Given the description of an element on the screen output the (x, y) to click on. 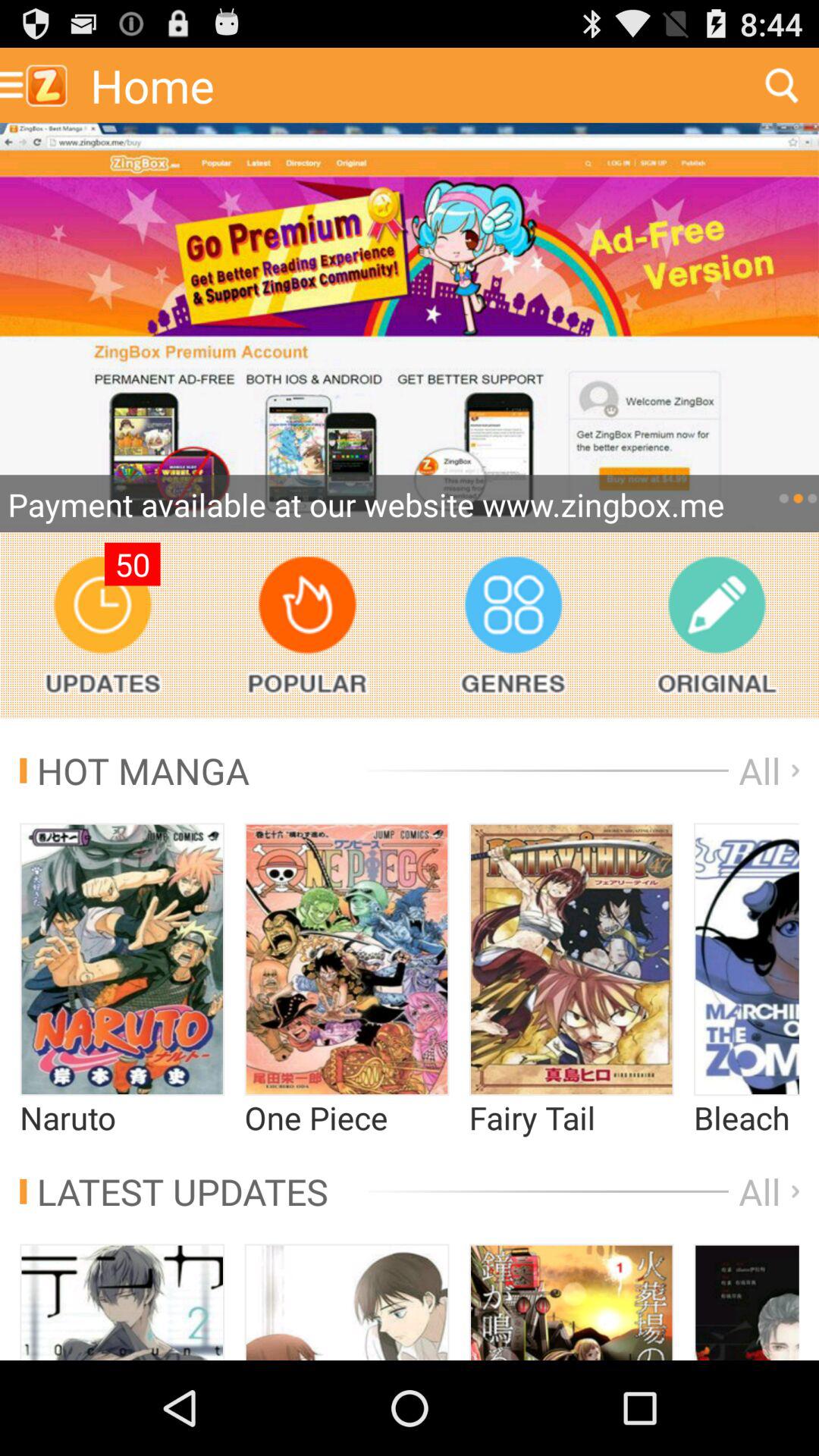
turn on the app above the all (716, 625)
